Given the description of an element on the screen output the (x, y) to click on. 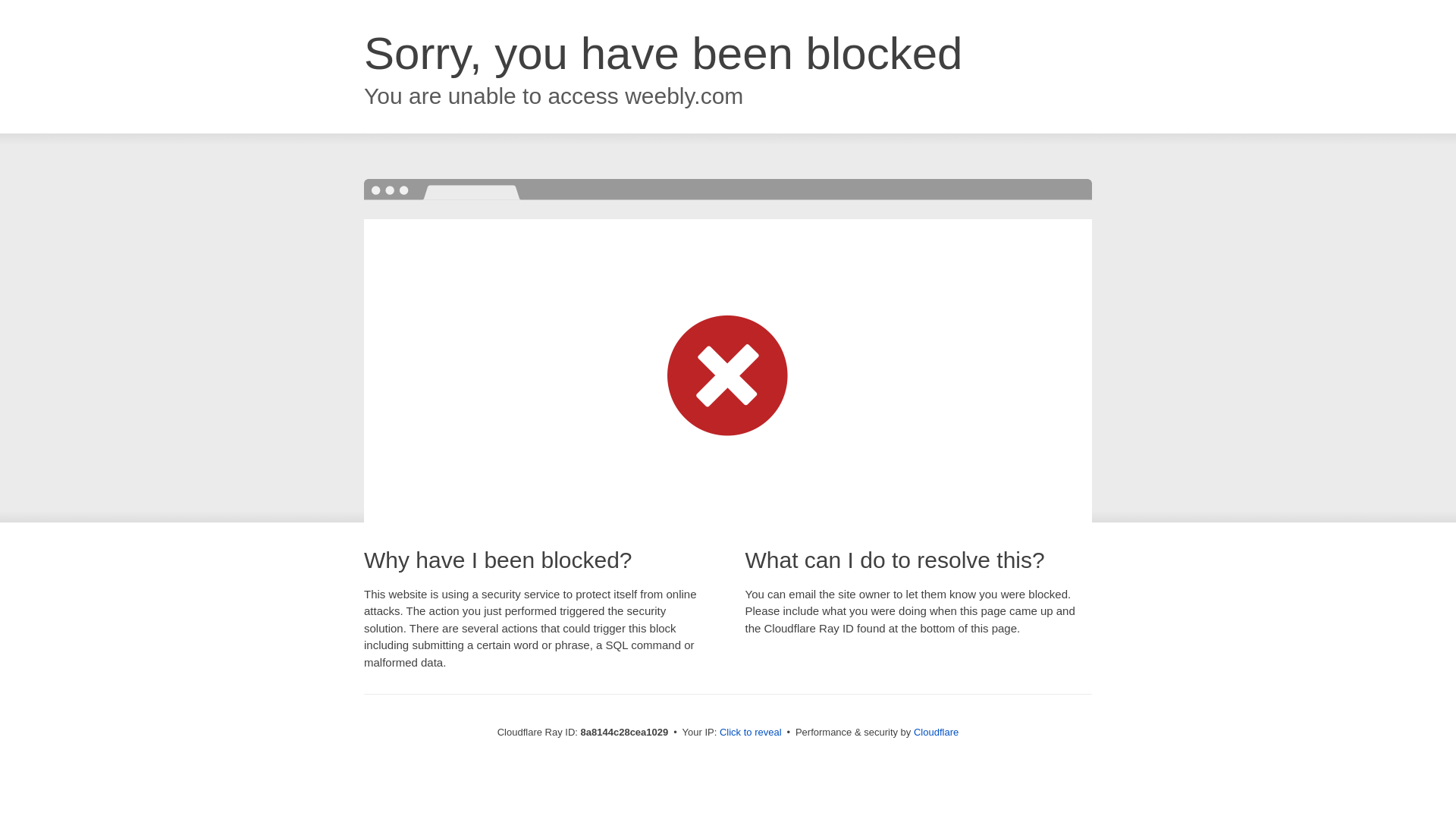
Click to reveal (750, 732)
Cloudflare (936, 731)
